Given the description of an element on the screen output the (x, y) to click on. 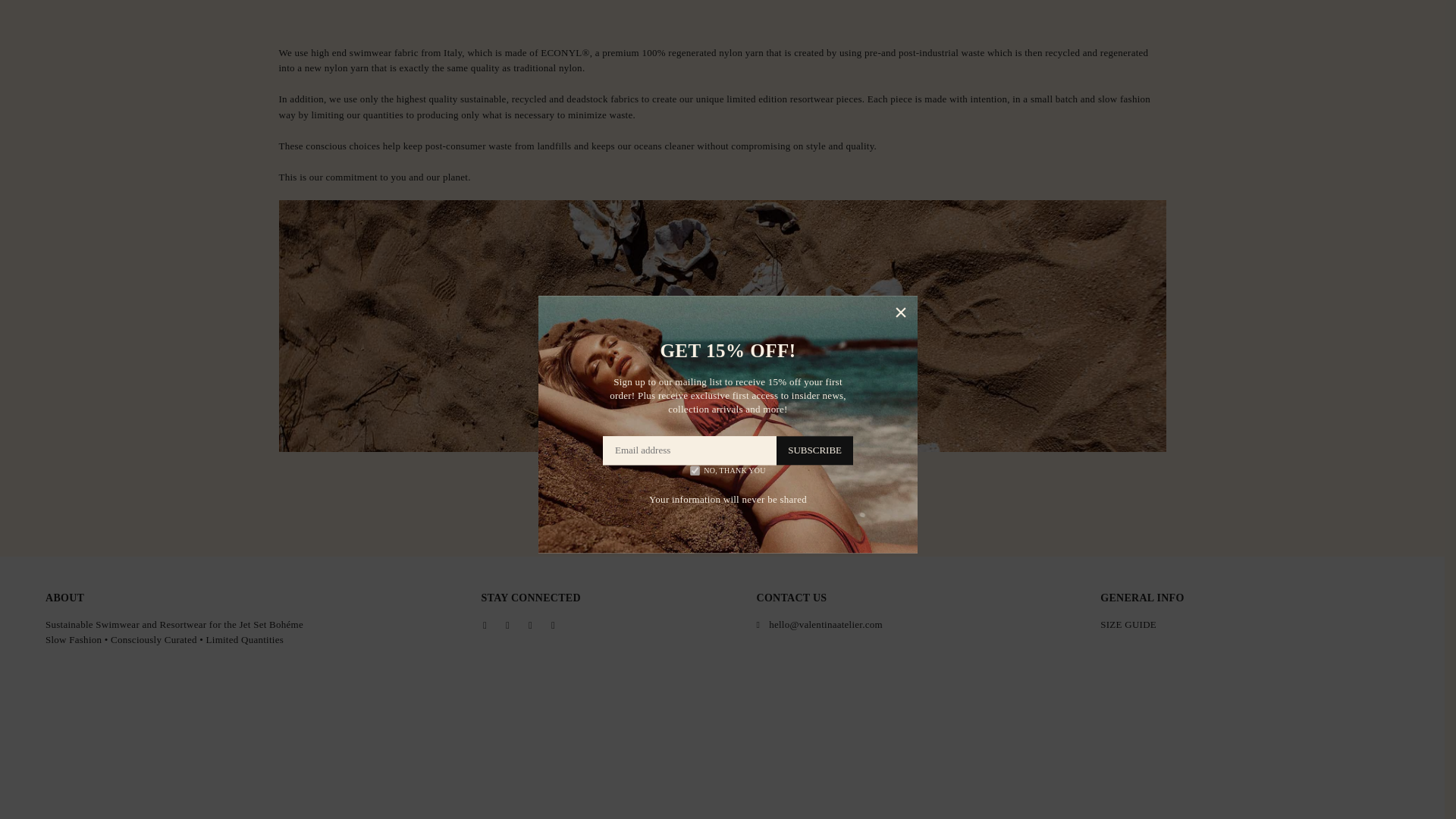
Facebook (484, 625)
Visa (1383, 798)
Venmo (1352, 798)
SIZE GUIDE (1128, 624)
Instagram (552, 625)
VALENTINA ATELIER on Instagram (552, 625)
Shop Pay (1321, 798)
Mastercard (1259, 798)
Apple Pay (1134, 798)
VALENTINA ATELIER on Facebook (484, 625)
VALENTINA ATELIER on Pinterest (529, 625)
Diners Club (1166, 798)
Pinterest (529, 625)
VALENTINA ATELIER on Twitter (507, 625)
Discover (1196, 798)
